Given the description of an element on the screen output the (x, y) to click on. 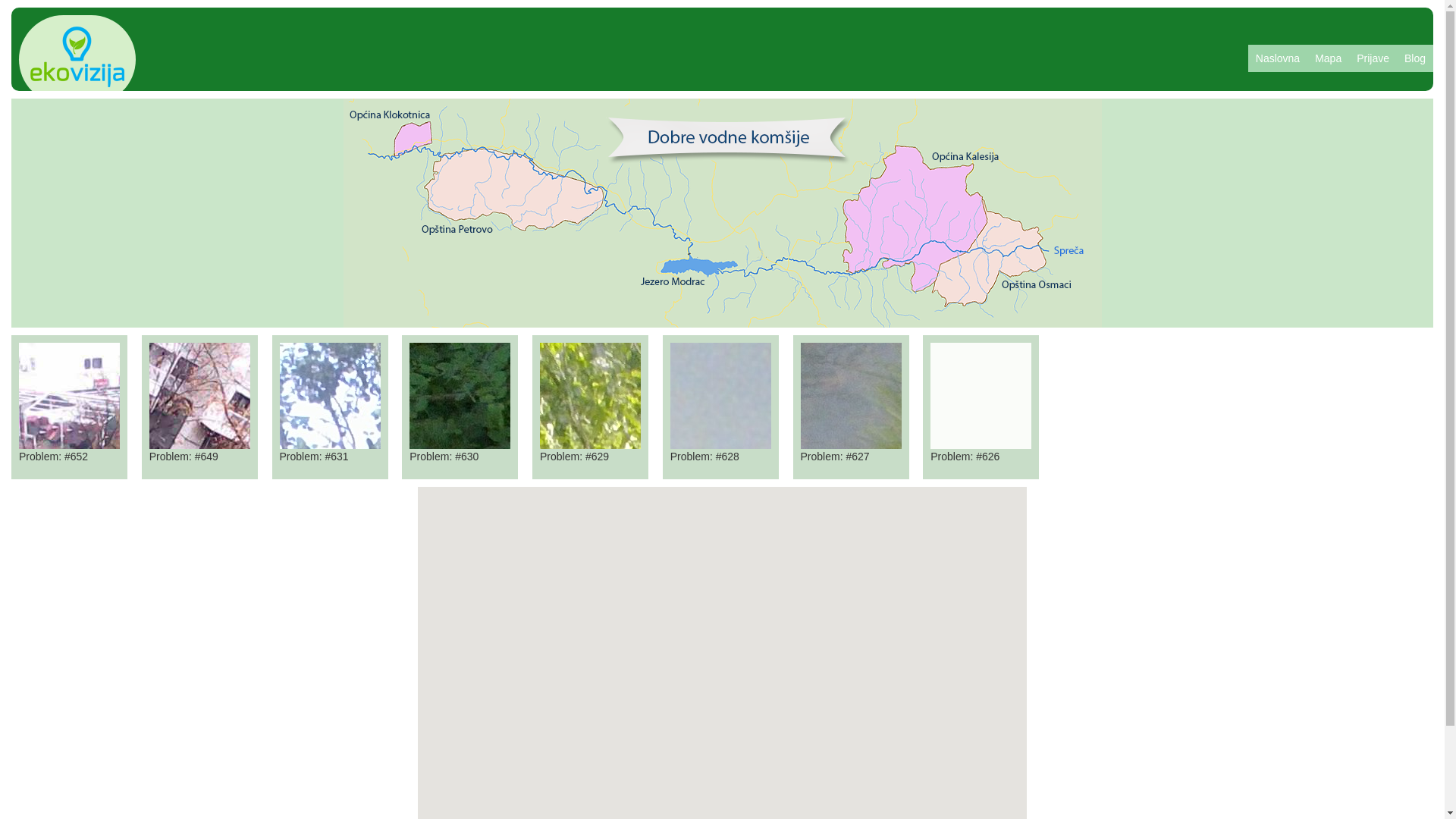
Mapa Element type: text (1328, 58)
Naslovna Element type: text (1277, 58)
Prijave Element type: text (1372, 58)
Blog Element type: text (1414, 58)
